Given the description of an element on the screen output the (x, y) to click on. 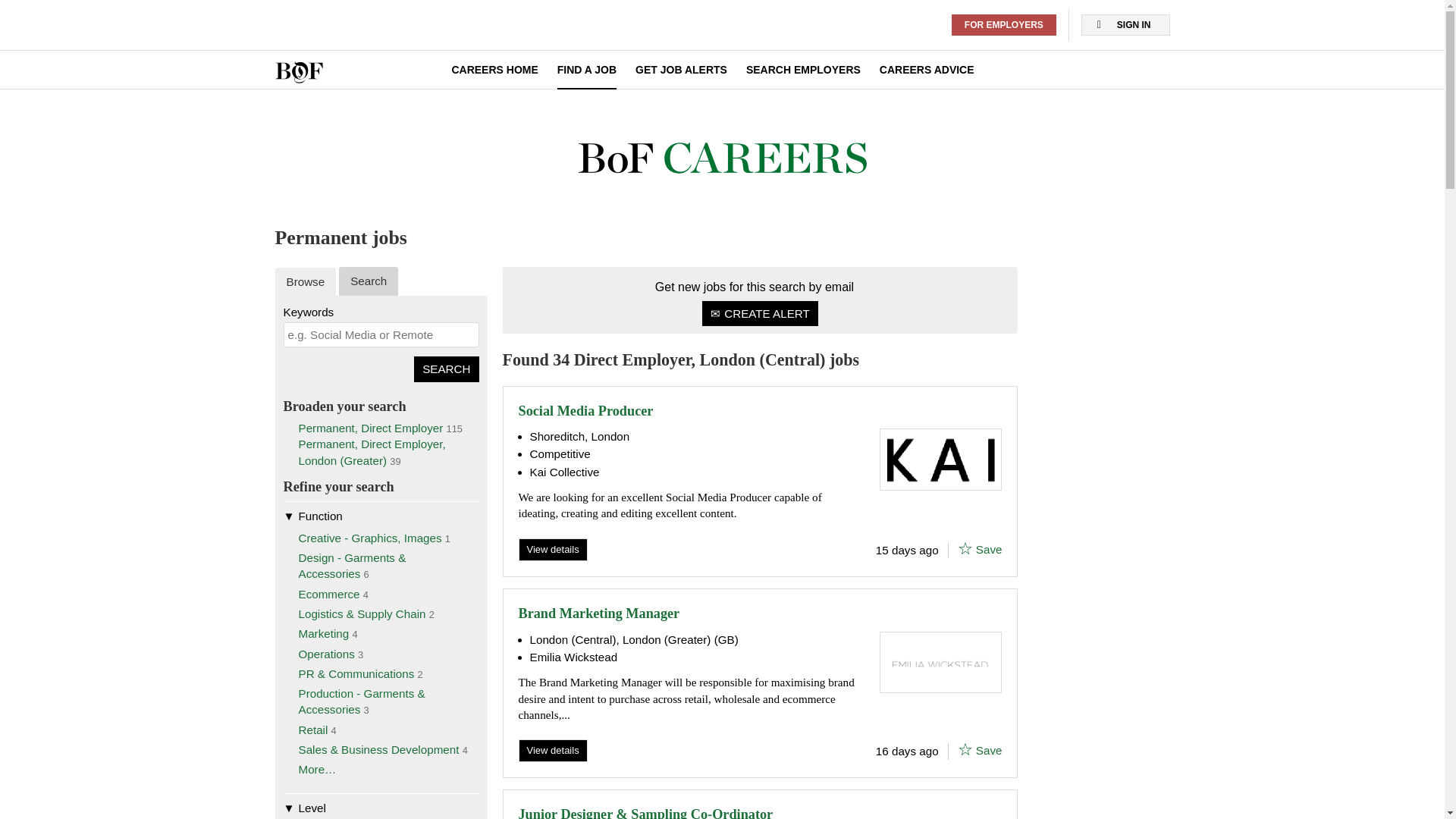
SEARCH EMPLOYERS (802, 69)
Ecommerce (328, 594)
SIGN IN (1125, 25)
Permanent, Direct Employer (371, 427)
Search (446, 368)
Marketing (323, 633)
Search (446, 368)
FOR EMPLOYERS (1004, 25)
BoF Careers (298, 72)
GET JOB ALERTS (680, 69)
